Given the description of an element on the screen output the (x, y) to click on. 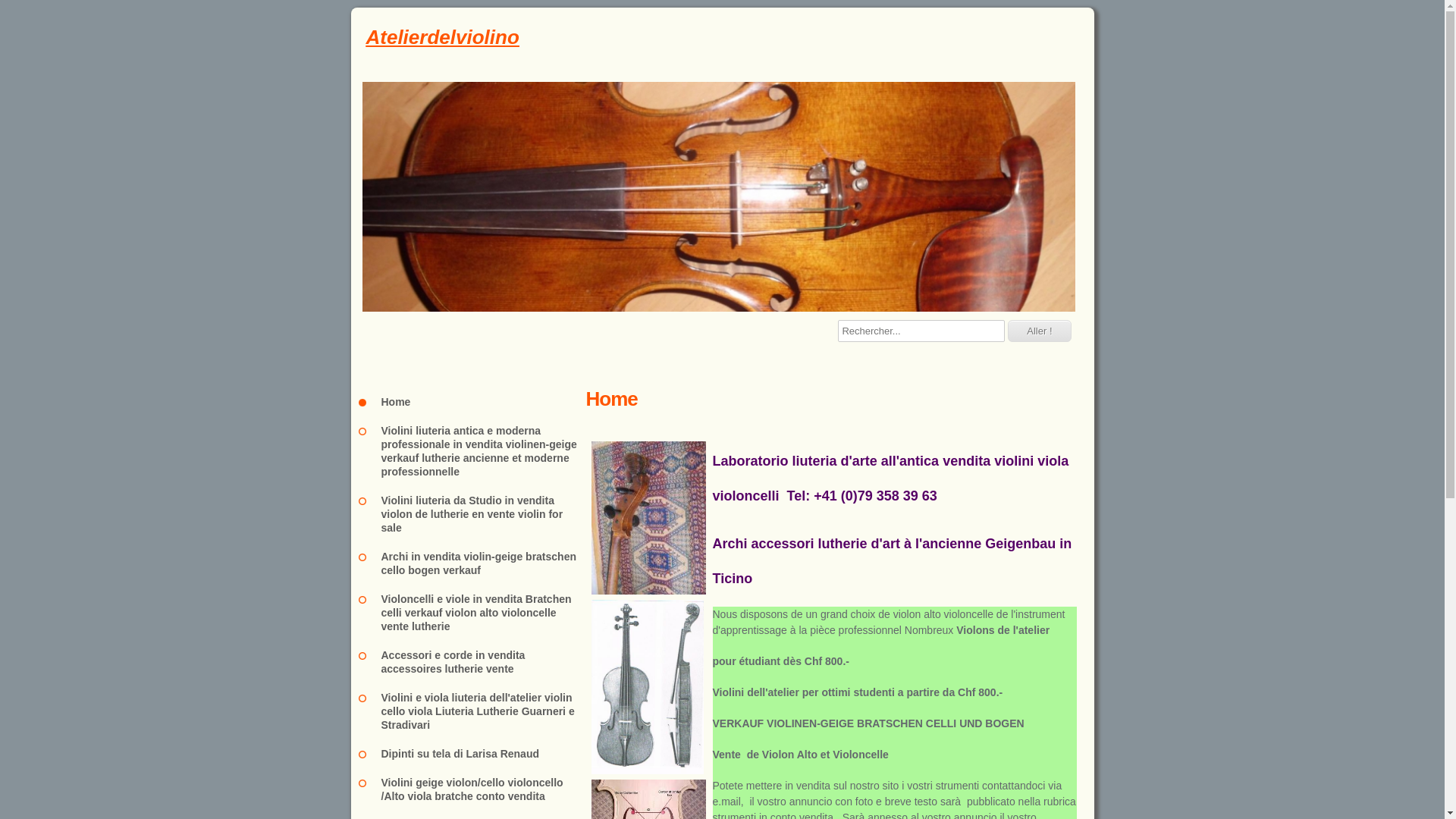
Home Element type: text (471, 401)
Dipinti su tela di Larisa Renaud Element type: text (471, 753)
Archi in vendita violin-geige bratschen cello bogen verkauf Element type: text (471, 563)
Accessori e corde in vendita accessoires lutherie vente Element type: text (471, 661)
Atelierdelviolino Element type: text (721, 37)
